Given the description of an element on the screen output the (x, y) to click on. 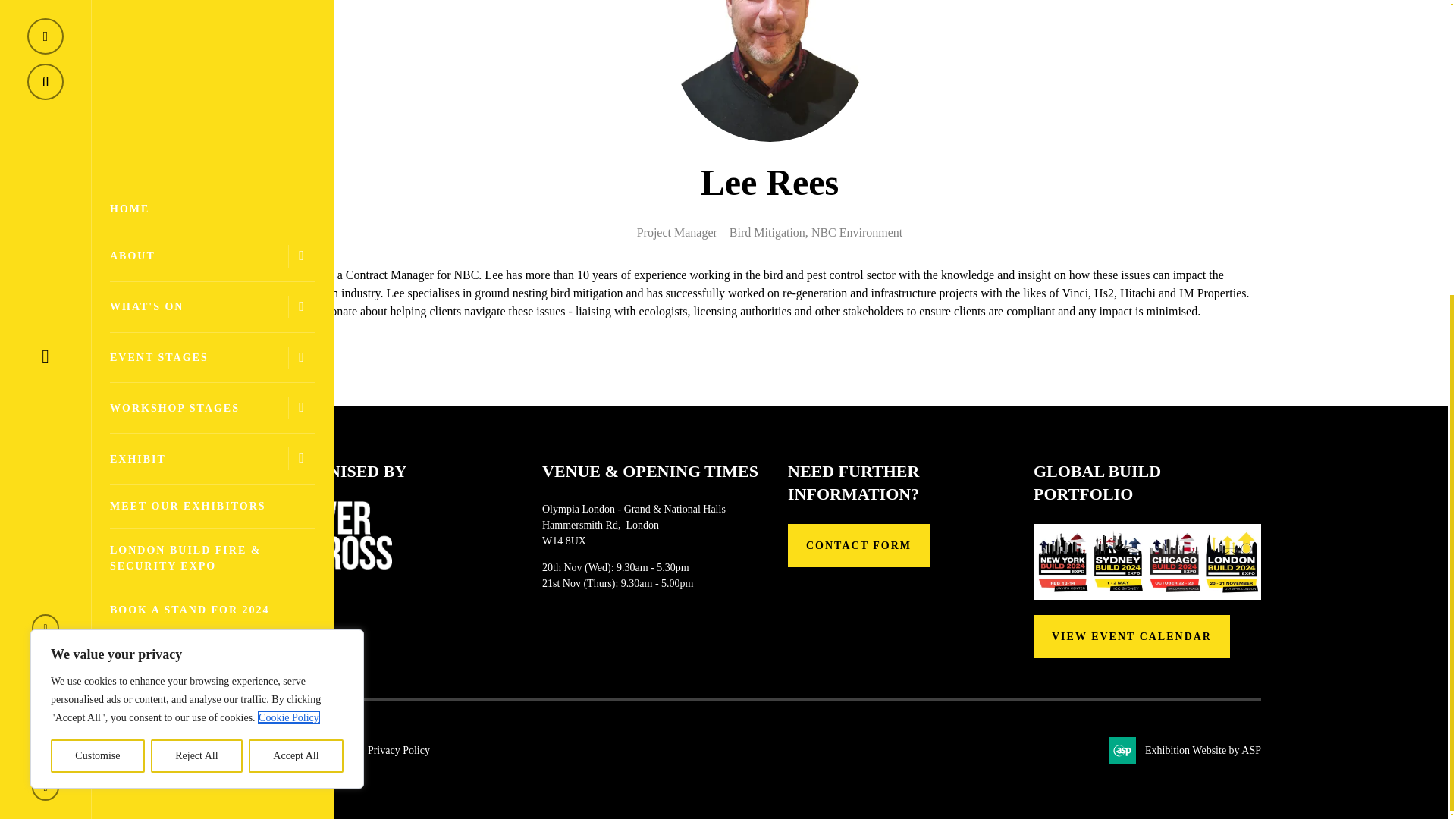
Accept All (295, 300)
Cookie Policy (288, 262)
Reject All (197, 300)
Customise (97, 300)
